Given the description of an element on the screen output the (x, y) to click on. 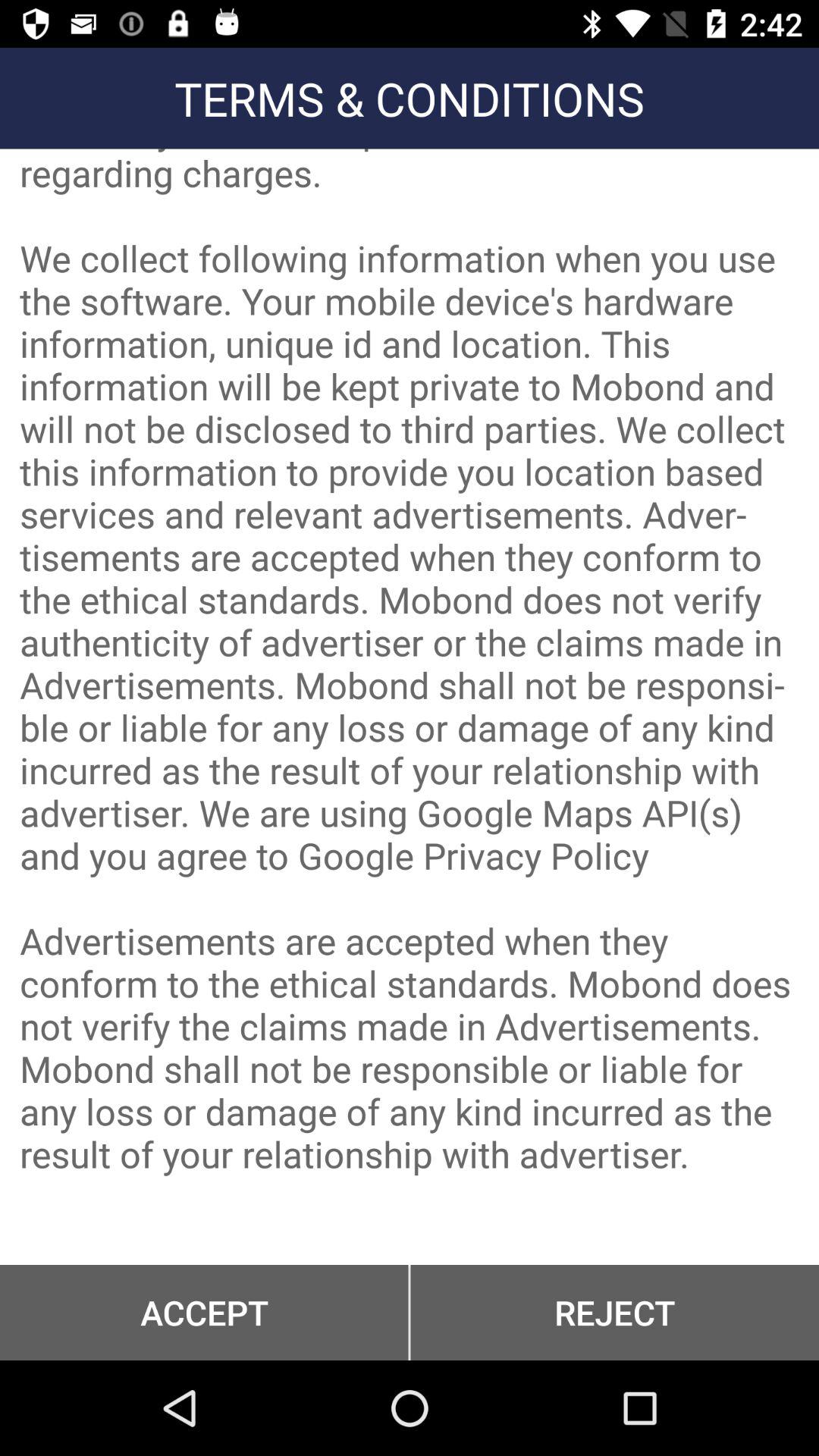
tap button at the bottom right corner (614, 1312)
